Given the description of an element on the screen output the (x, y) to click on. 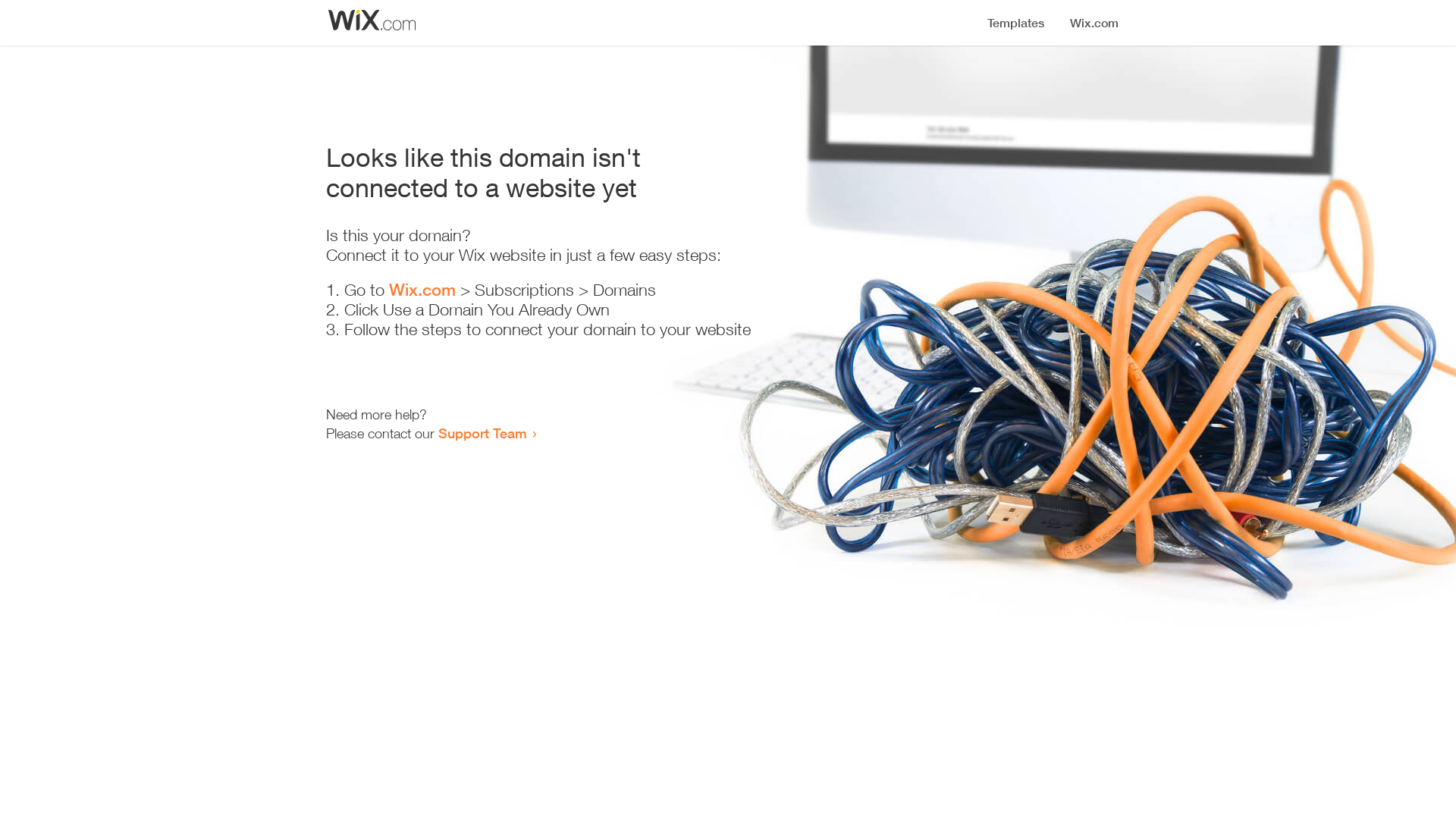
Support Team Element type: text (482, 432)
Wix.com Element type: text (422, 289)
